Given the description of an element on the screen output the (x, y) to click on. 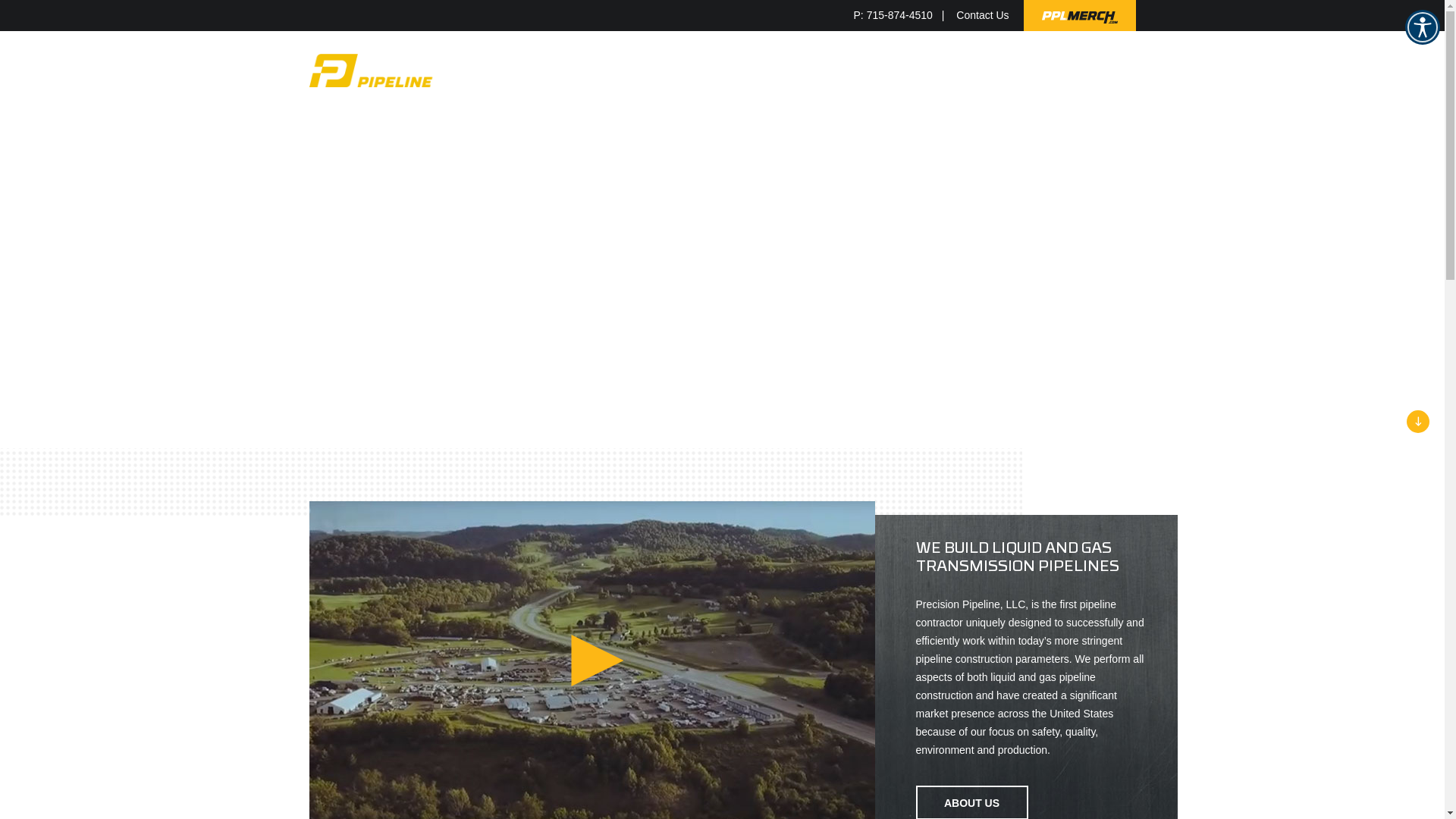
RESOURCES Element type: text (907, 70)
P: 715-874-4510 Element type: text (903, 15)
PPL MERCH Element type: text (1070, 70)
SERVICES Element type: text (559, 70)
PPLMerch.com Element type: hover (1079, 15)
CONTACT US Element type: text (990, 70)
Precision Pipeline Element type: hover (407, 70)
SOCIAL RESPONSIBILITY Element type: text (739, 70)
Show Search Element type: hover (1128, 70)
ABOUT Element type: text (839, 70)
Play Video Element type: hover (597, 660)
Contact Us Element type: text (982, 15)
PROJECTS Element type: text (629, 70)
